Given the description of an element on the screen output the (x, y) to click on. 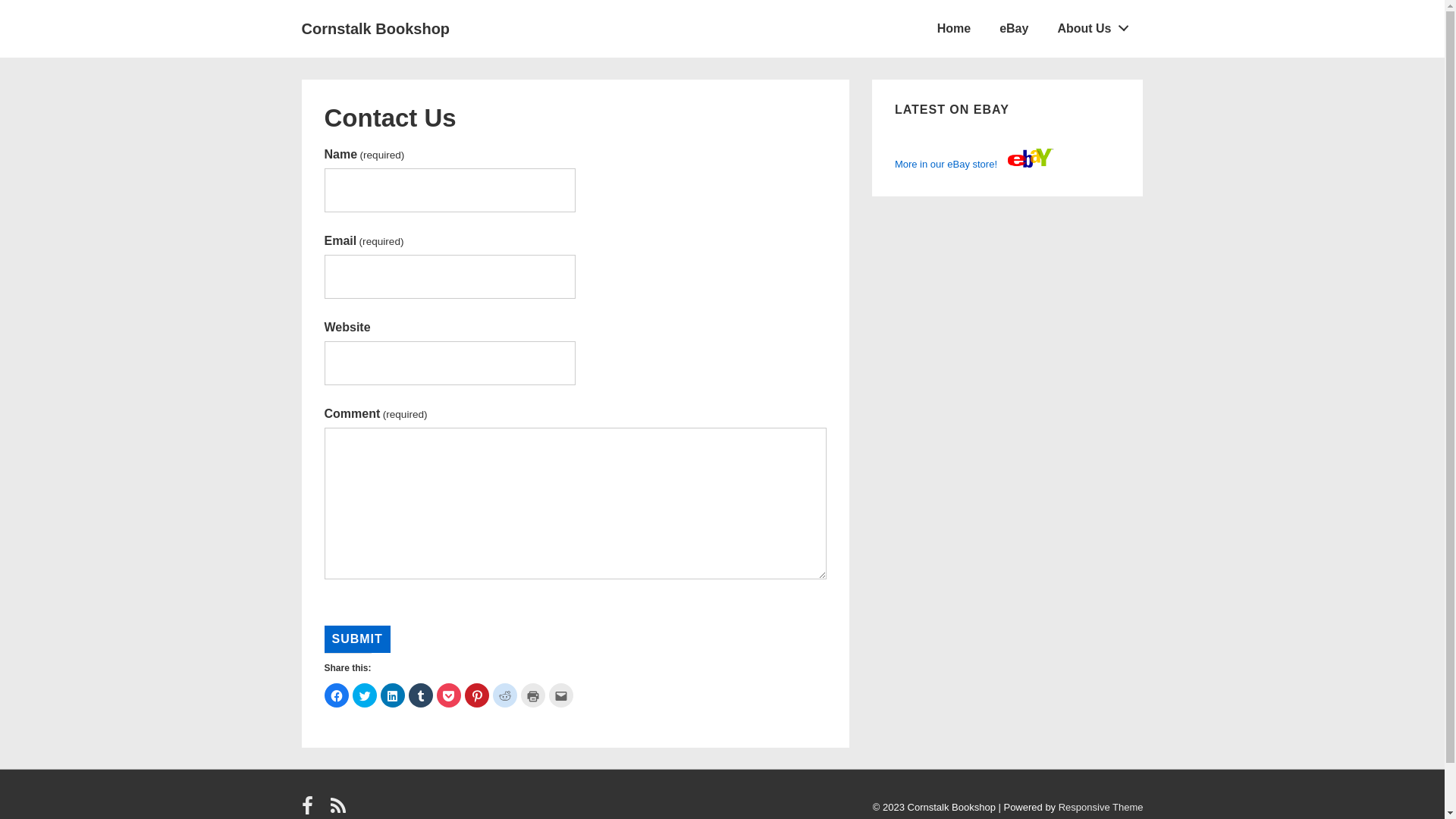
Click to share on Twitter (Opens in new window) Element type: text (363, 695)
Click to share on Reddit (Opens in new window) Element type: text (504, 695)
Responsive Theme Element type: text (1100, 806)
Click to share on Tumblr (Opens in new window) Element type: text (419, 695)
More in our eBay store!     Element type: text (974, 163)
Home Element type: text (953, 28)
About Us Element type: text (1092, 28)
Cornstalk Bookshop Element type: text (375, 28)
Click to share on Facebook (Opens in new window) Element type: text (336, 695)
Click to print (Opens in new window) Element type: text (532, 695)
Click to share on Pinterest (Opens in new window) Element type: text (476, 695)
facebook Element type: hover (310, 810)
Click to email this to a friend (Opens in new window) Element type: text (561, 695)
Click to share on LinkedIn (Opens in new window) Element type: text (392, 695)
SUBMIT Element type: text (357, 638)
rss Element type: hover (339, 810)
eBay Element type: text (1013, 28)
Click to share on Pocket (Opens in new window) Element type: text (448, 695)
